Given the description of an element on the screen output the (x, y) to click on. 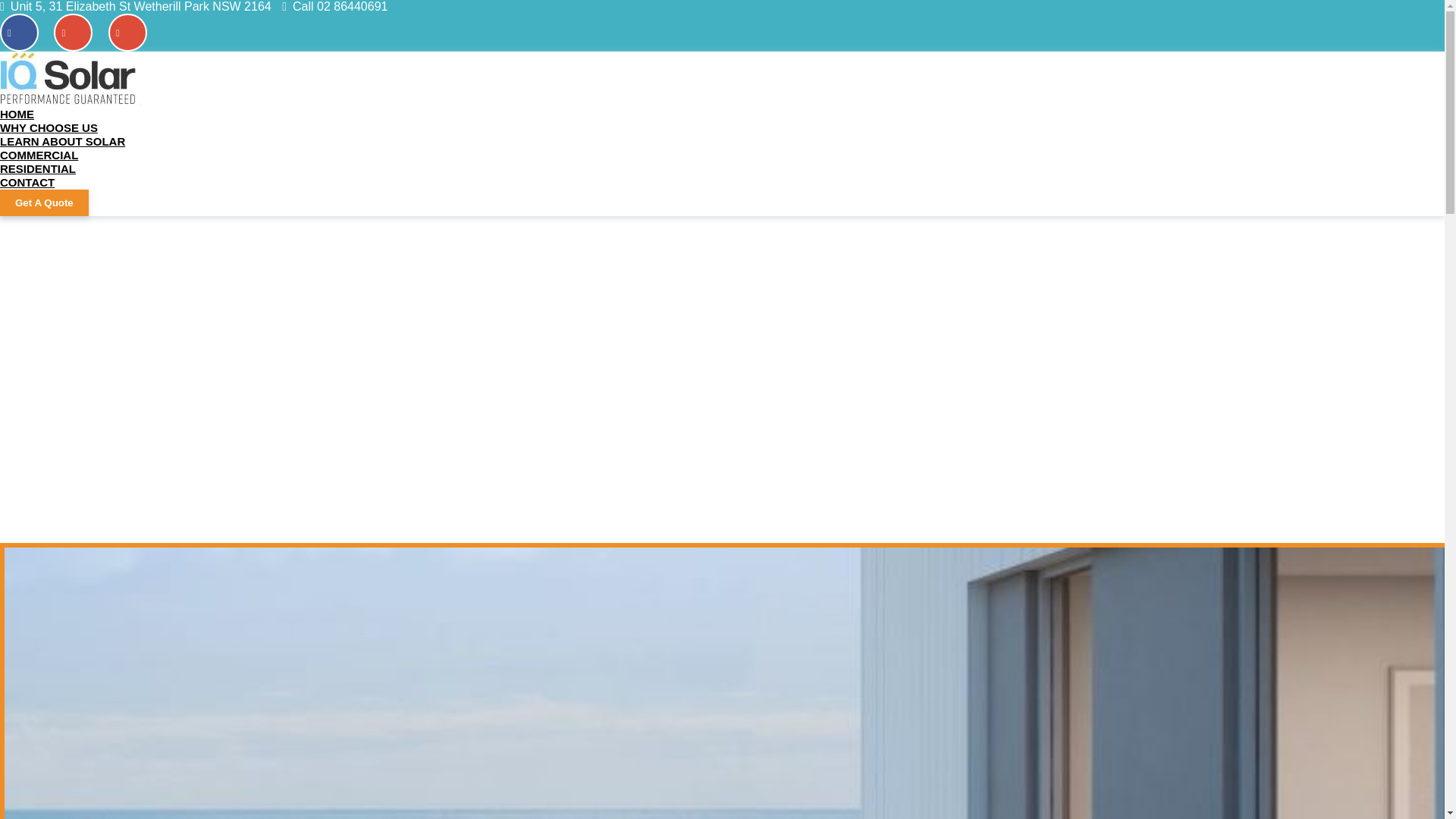
Get A Quote (44, 201)
Call 02 86440691 (339, 6)
WHY CHOOSE US (58, 127)
CONTACT (36, 182)
RESIDENTIAL (47, 168)
HOME (26, 113)
Get A Quote (44, 202)
LEARN ABOUT SOLAR (71, 141)
Unit 5, 31 Elizabeth St Wetherill Park NSW 2164 (140, 6)
COMMERCIAL (48, 154)
